Given the description of an element on the screen output the (x, y) to click on. 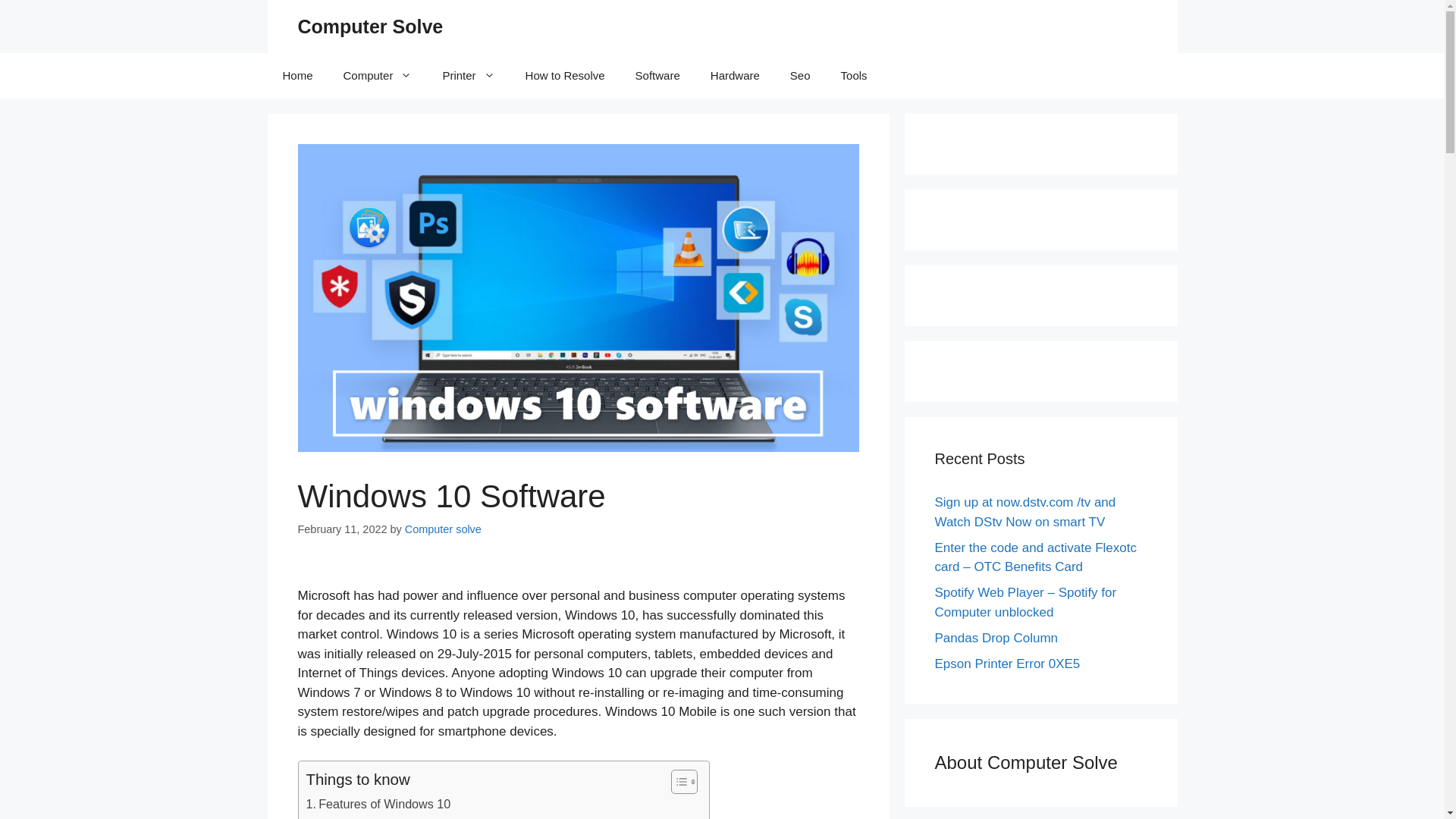
What is the importance of Windows 10 ? (421, 816)
Printer (467, 75)
Hardware (734, 75)
Tools (853, 75)
Home (296, 75)
Computer Solve (369, 25)
Features of Windows 10 (378, 804)
How to Resolve (565, 75)
Seo (799, 75)
Computer solve (442, 529)
